Given the description of an element on the screen output the (x, y) to click on. 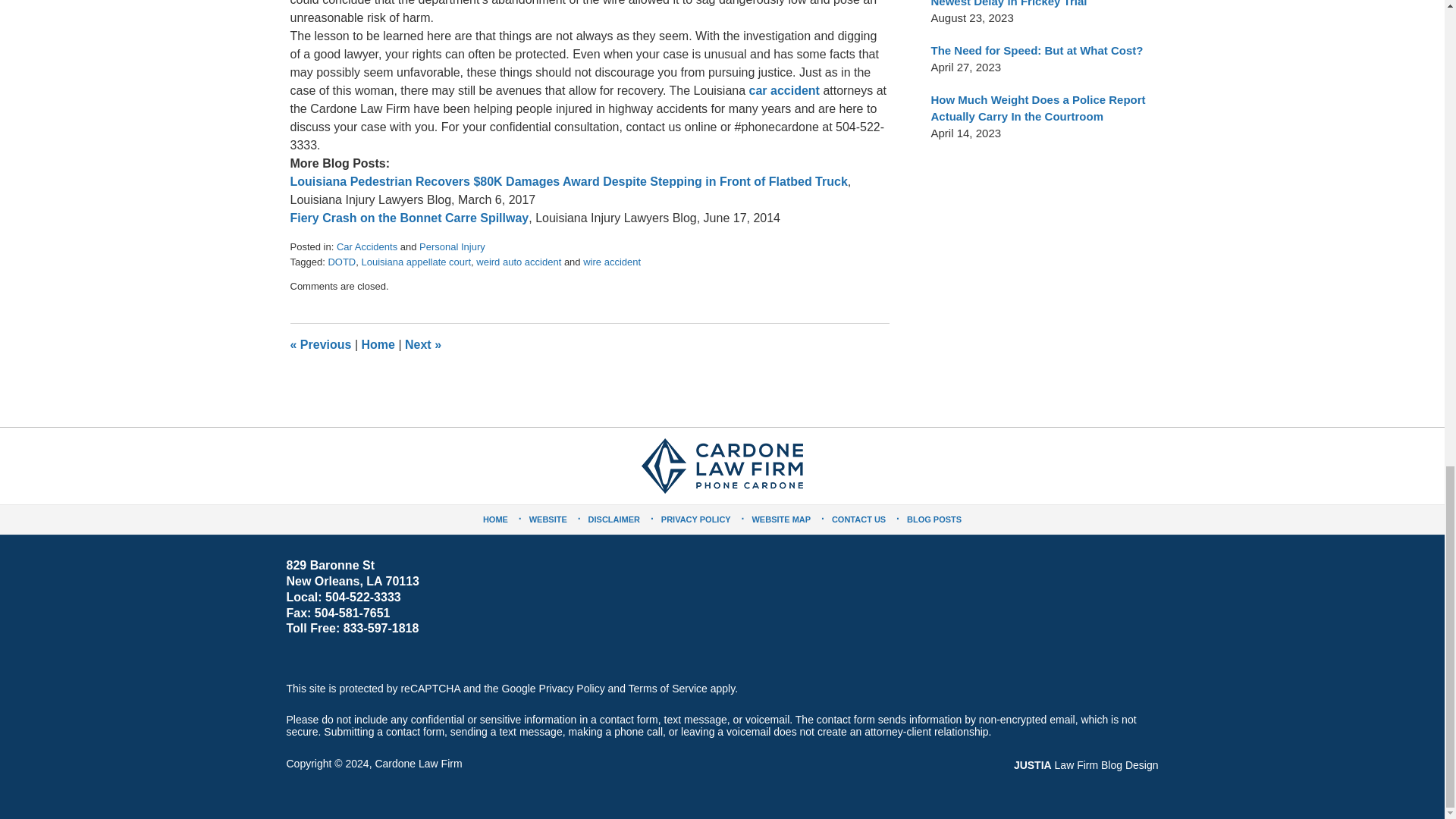
DOTD (341, 261)
View all posts tagged with DOTD (341, 261)
View all posts tagged with wire accident (611, 261)
View all posts in Car Accidents (366, 246)
car accident (784, 90)
View all posts in Personal Injury (451, 246)
View all posts tagged with Louisiana appellate court (415, 261)
weird auto accident (518, 261)
Car Accidents (366, 246)
Louisiana appellate court (415, 261)
View all posts tagged with weird auto accident (518, 261)
Fiery Crash on the Bonnet Carre Spillway (408, 217)
Personal Injury (451, 246)
